Given the description of an element on the screen output the (x, y) to click on. 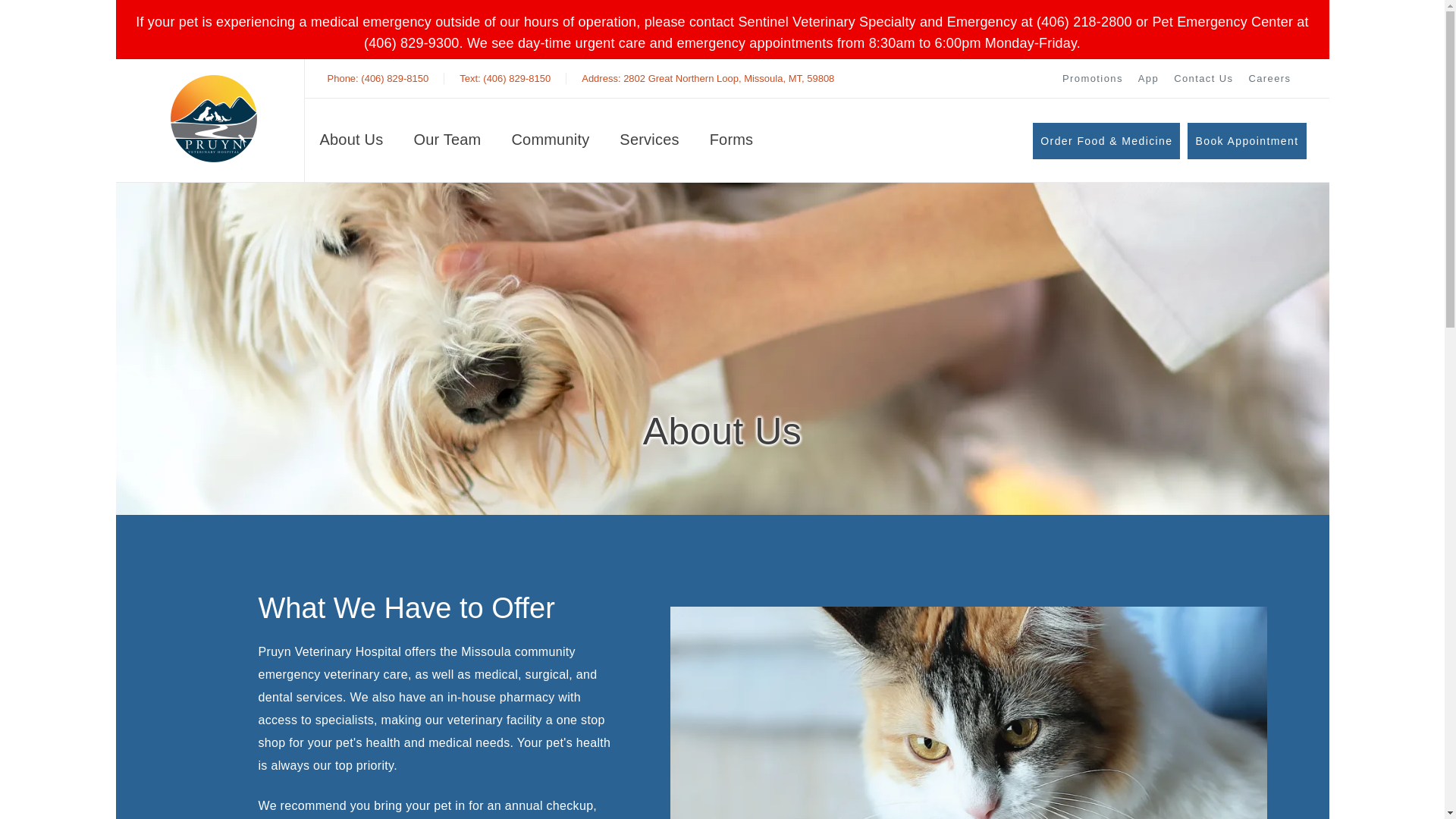
Logo (213, 118)
Our Team (446, 143)
Contact Us (1203, 78)
Promotions (707, 78)
App (1092, 78)
Careers (1148, 78)
Contact Us (1268, 78)
Address: 2802 Great Northern Loop, Missoula, MT, 59808 (1203, 78)
Promotions (707, 78)
Careers (1092, 78)
About Us (1268, 78)
Our Team (352, 143)
About Us (446, 143)
Forms (352, 143)
